Given the description of an element on the screen output the (x, y) to click on. 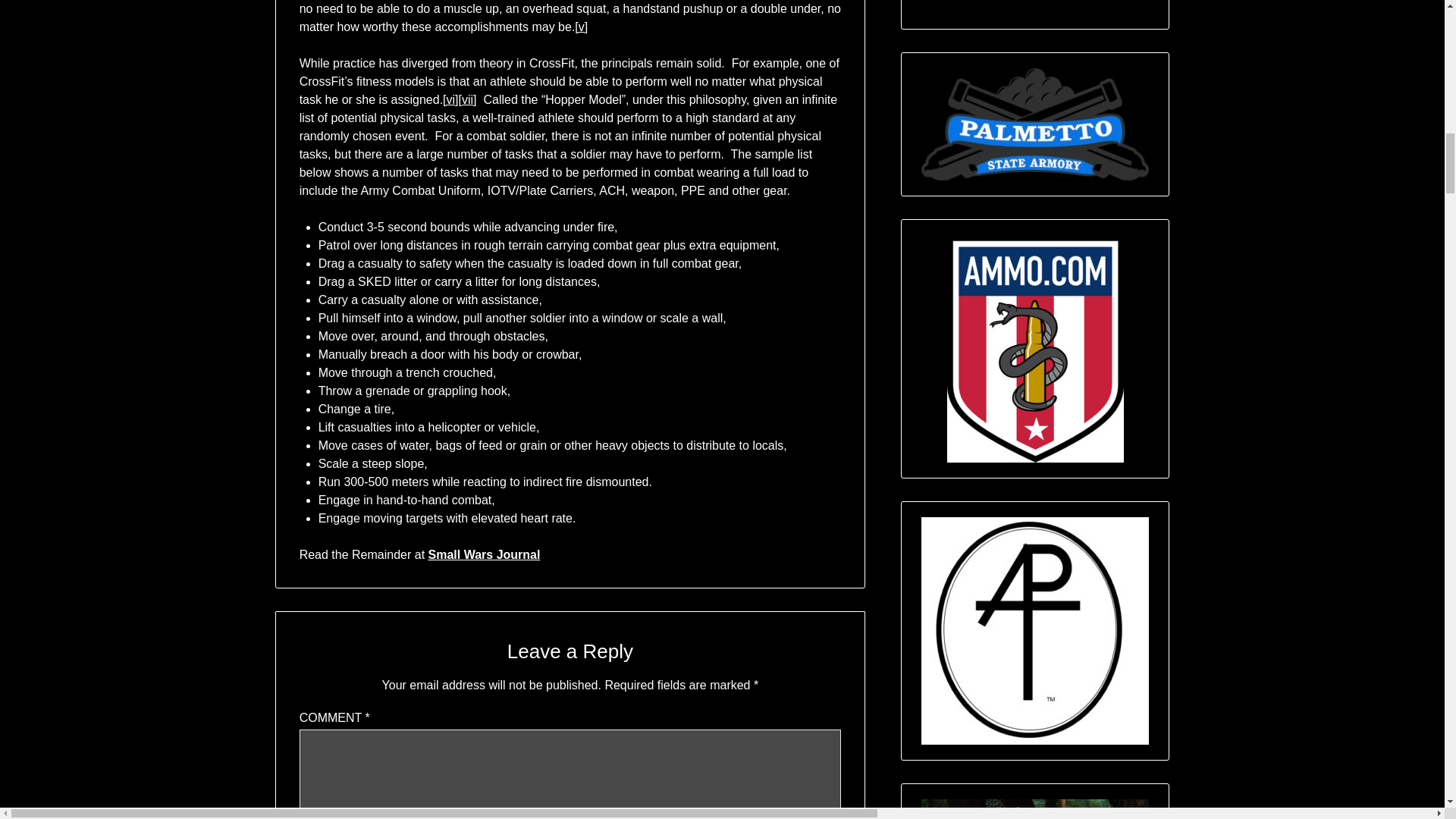
Got Training? Get it Today from the Best in the Business! (1034, 809)
Small Wars Journal (484, 554)
American Partisan Online Magazine (1034, 630)
Got Weapons? Stock Up Today! (1034, 123)
